Given the description of an element on the screen output the (x, y) to click on. 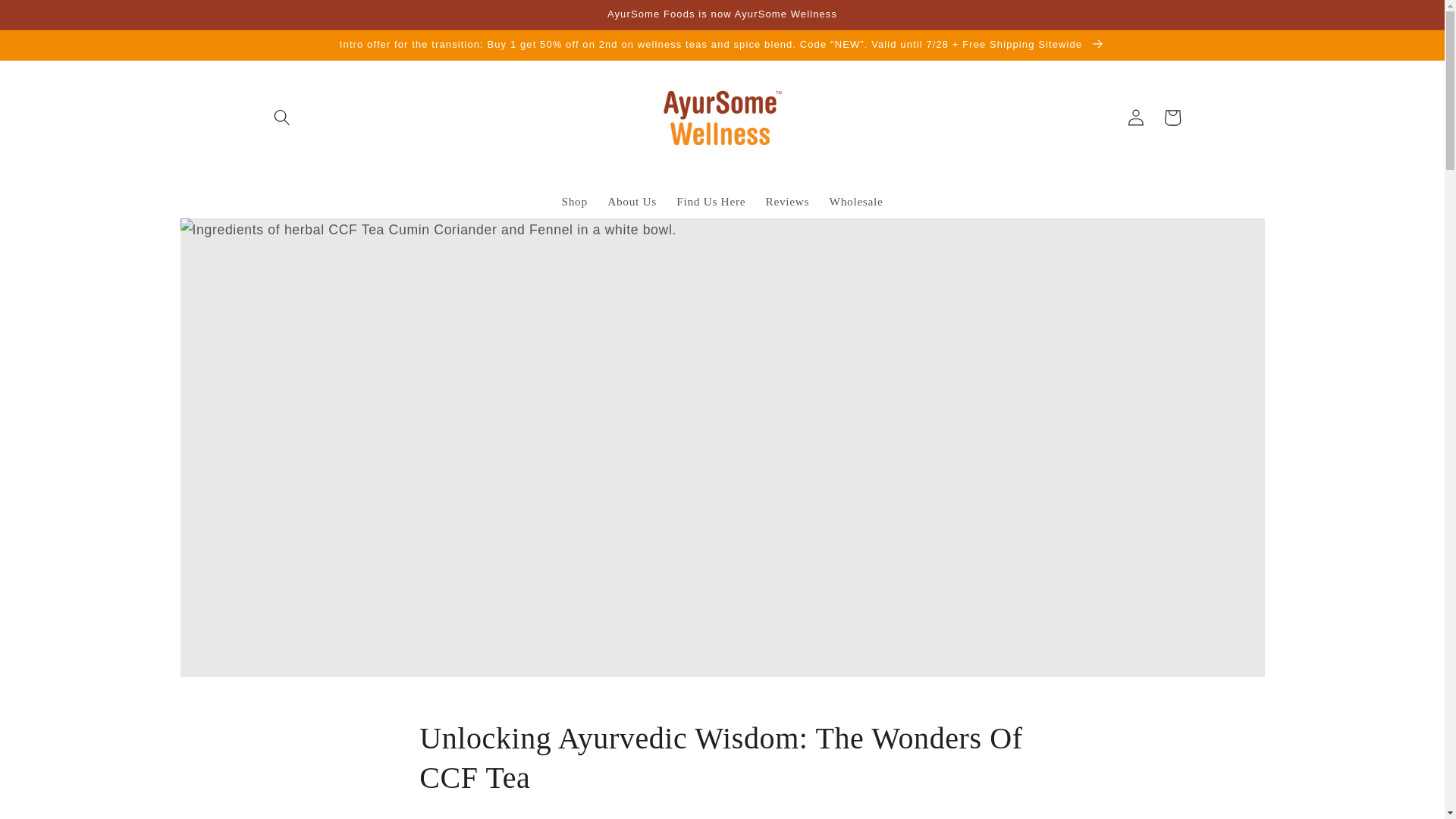
Find Us Here (710, 200)
Log in (1136, 117)
Skip to content (50, 19)
About Us (631, 200)
Cart (1172, 117)
Reviews (786, 200)
Shop (573, 200)
Wholesale (855, 200)
